Given the description of an element on the screen output the (x, y) to click on. 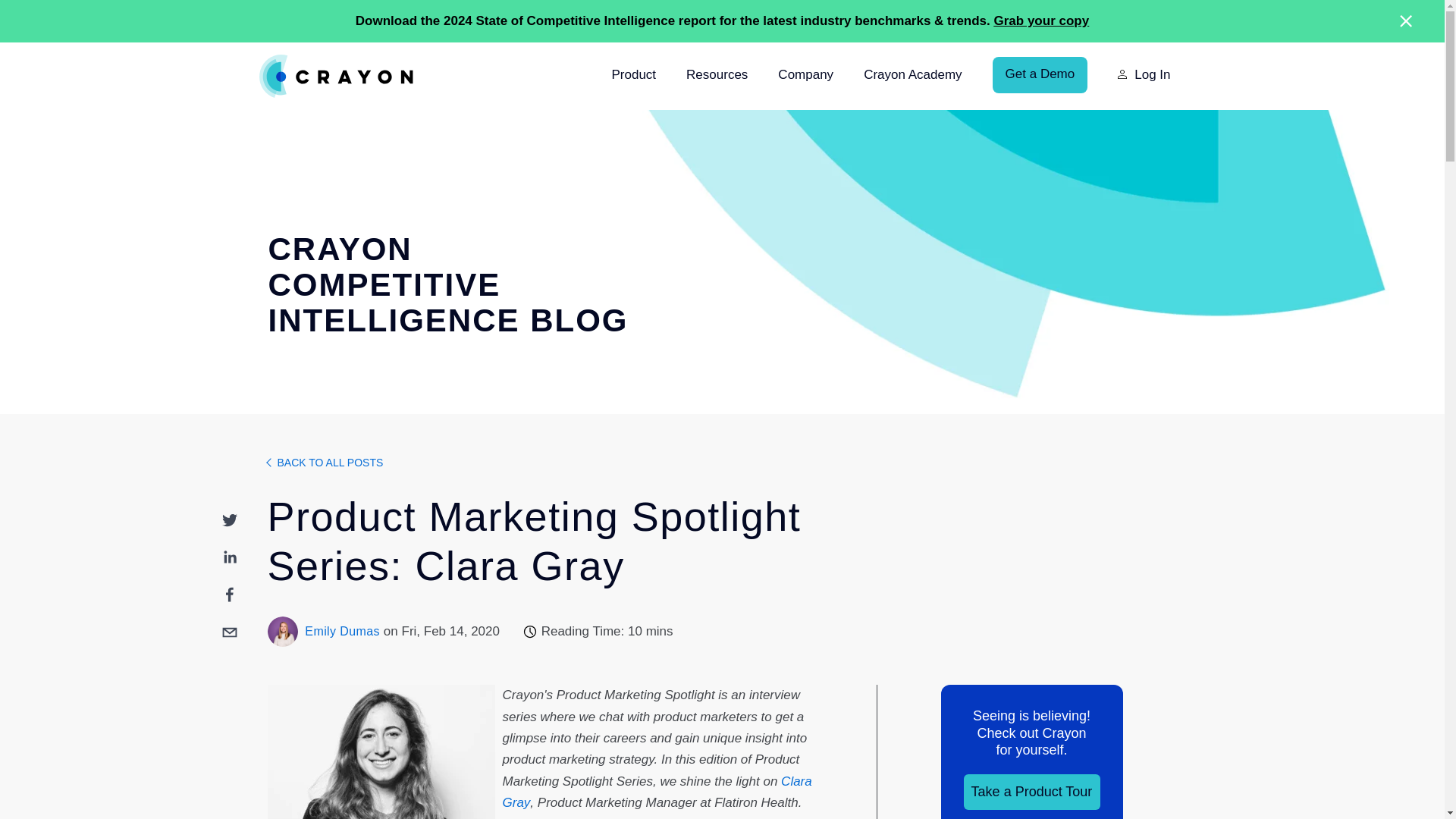
Take a Product Tour (1030, 791)
Get a Demo (1039, 74)
Crayon Academy (911, 75)
Take a Product Tour (1030, 791)
Log In (1144, 75)
Resources (716, 75)
Product (633, 75)
Grab your copy (1041, 20)
BACK TO ALL POSTS (331, 462)
Clara Gray (656, 791)
Emily Dumas (342, 631)
Company (804, 75)
